Given the description of an element on the screen output the (x, y) to click on. 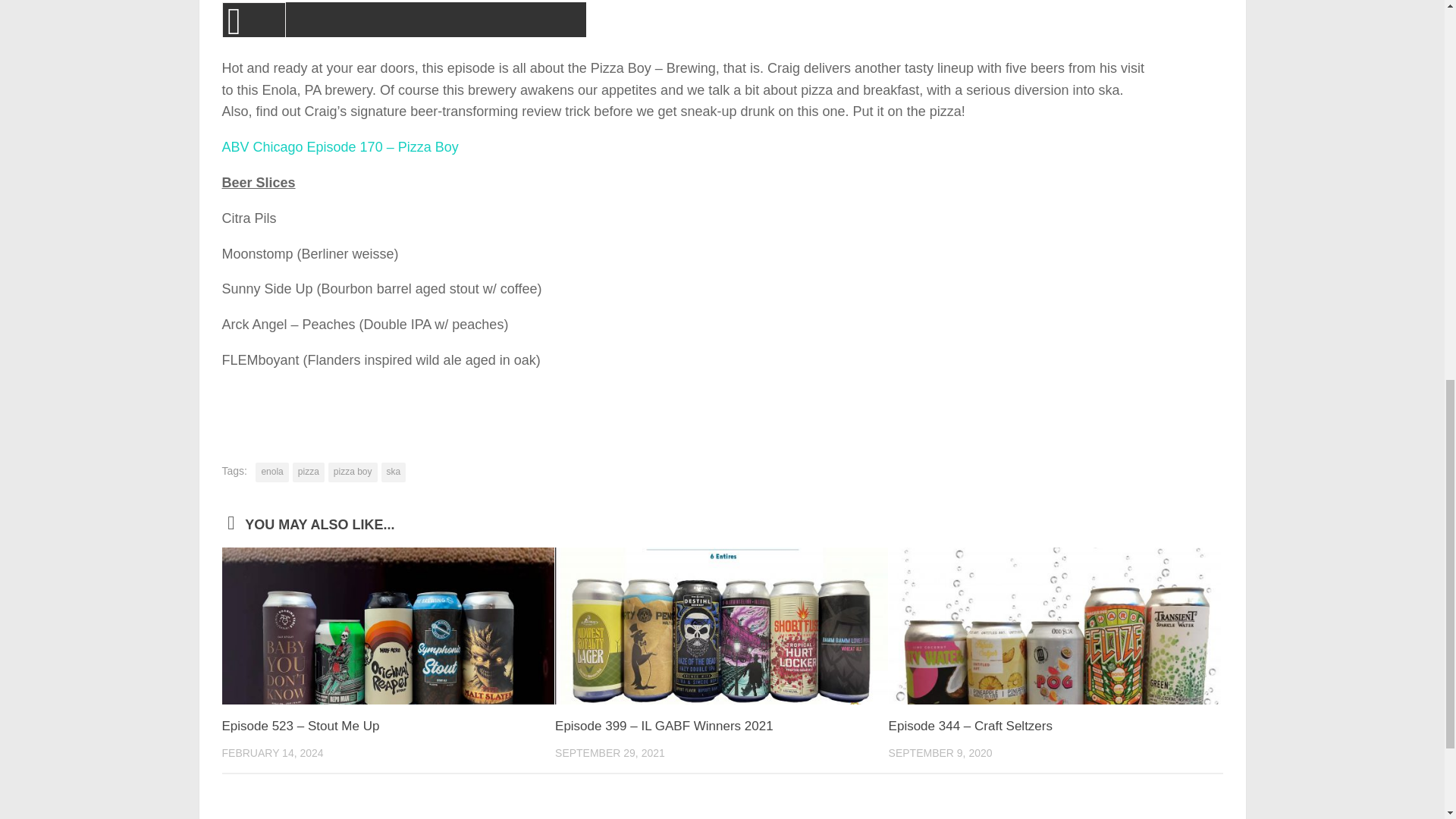
pizza boy (353, 472)
pizza (308, 472)
ska (393, 472)
enola (272, 472)
